Given the description of an element on the screen output the (x, y) to click on. 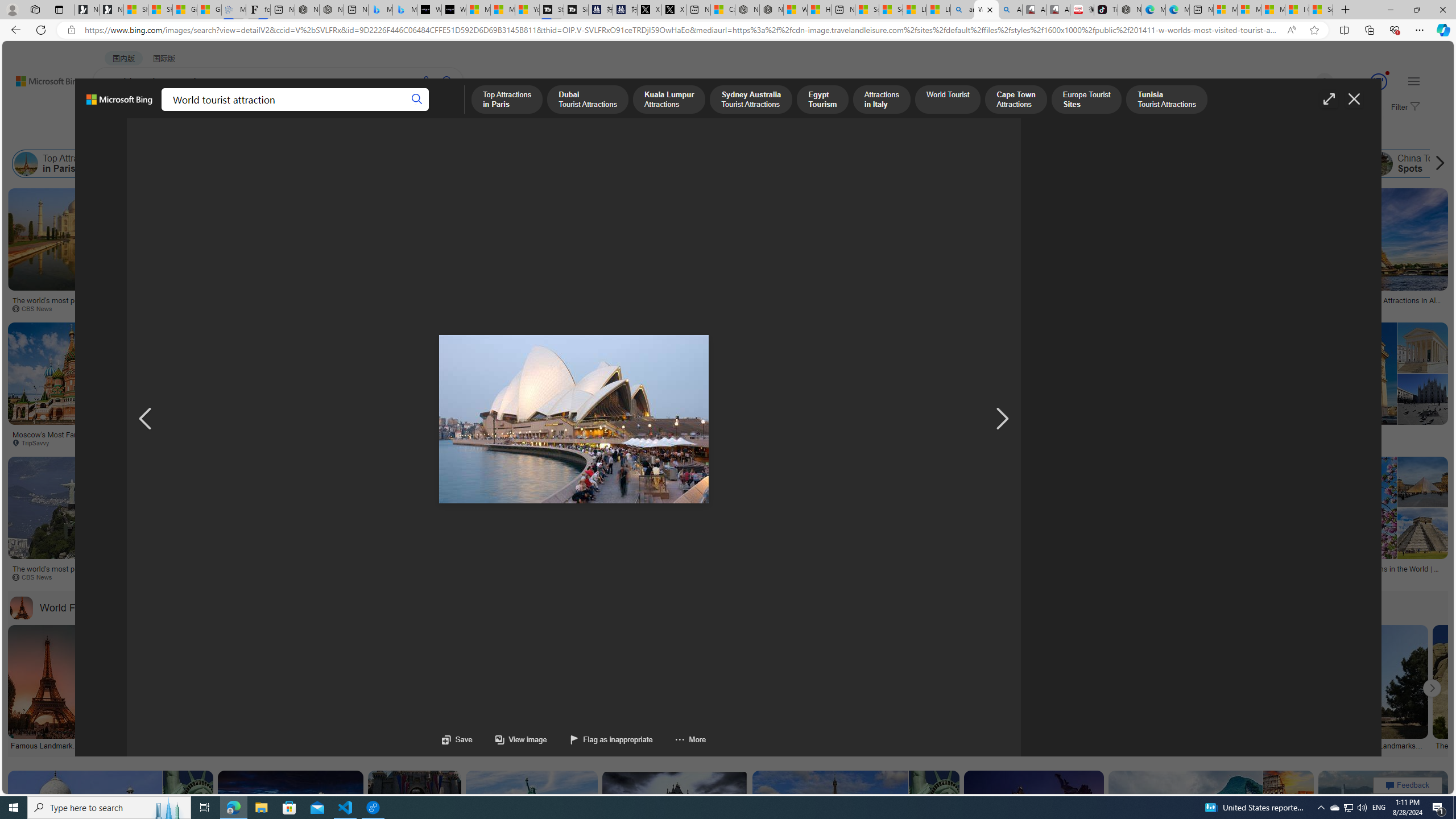
journeyz.co (382, 308)
World Famous Landmarks Images - Barbi Carlota (506, 744)
travelingcanucks.com (1187, 442)
The 10 Most Popular Tourist Attractions In The World - ZOHAL (485, 438)
Microsoft Bing, Back to Bing search (118, 104)
Big Ben Snow Globe (727, 296)
